Given the description of an element on the screen output the (x, y) to click on. 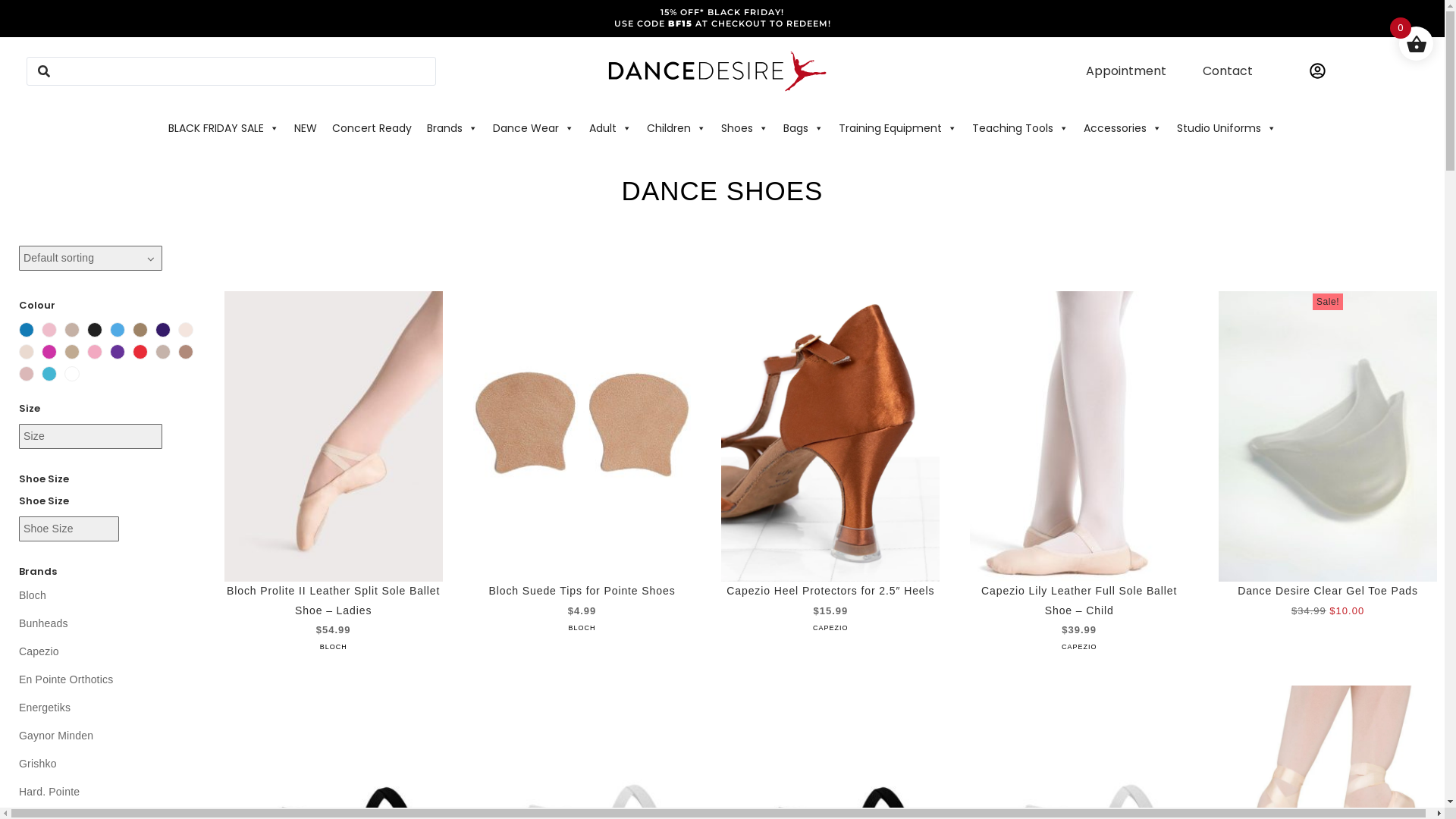
Studio Uniforms Element type: text (1226, 127)
Dance Wear Element type: text (533, 127)
Teaching Tools Element type: text (1020, 127)
Appointment Element type: text (1125, 70)
BLOCH Element type: text (582, 627)
Dance Desire Clear Gel Toe Pads Element type: text (1327, 590)
Concert Ready Element type: text (371, 127)
Bags Element type: text (803, 127)
Brands Element type: text (452, 127)
Accessories Element type: text (1122, 127)
Bloch Suede Tips for Pointe Shoes Element type: text (581, 590)
BLACK FRIDAY SALE Element type: text (223, 127)
Adult Element type: text (610, 127)
CAPEZIO Element type: text (1079, 646)
Contact Element type: text (1227, 70)
Children Element type: text (676, 127)
BLOCH Element type: text (333, 646)
NEW Element type: text (305, 127)
CAPEZIO Element type: text (830, 627)
Shoes Element type: text (744, 127)
Training Equipment Element type: text (897, 127)
